Given the description of an element on the screen output the (x, y) to click on. 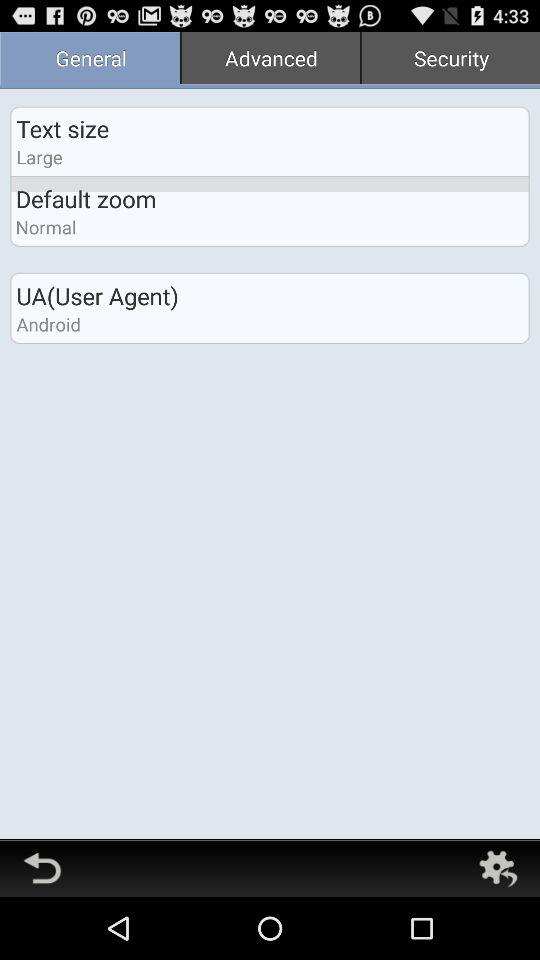
tap the icon above android item (97, 295)
